Given the description of an element on the screen output the (x, y) to click on. 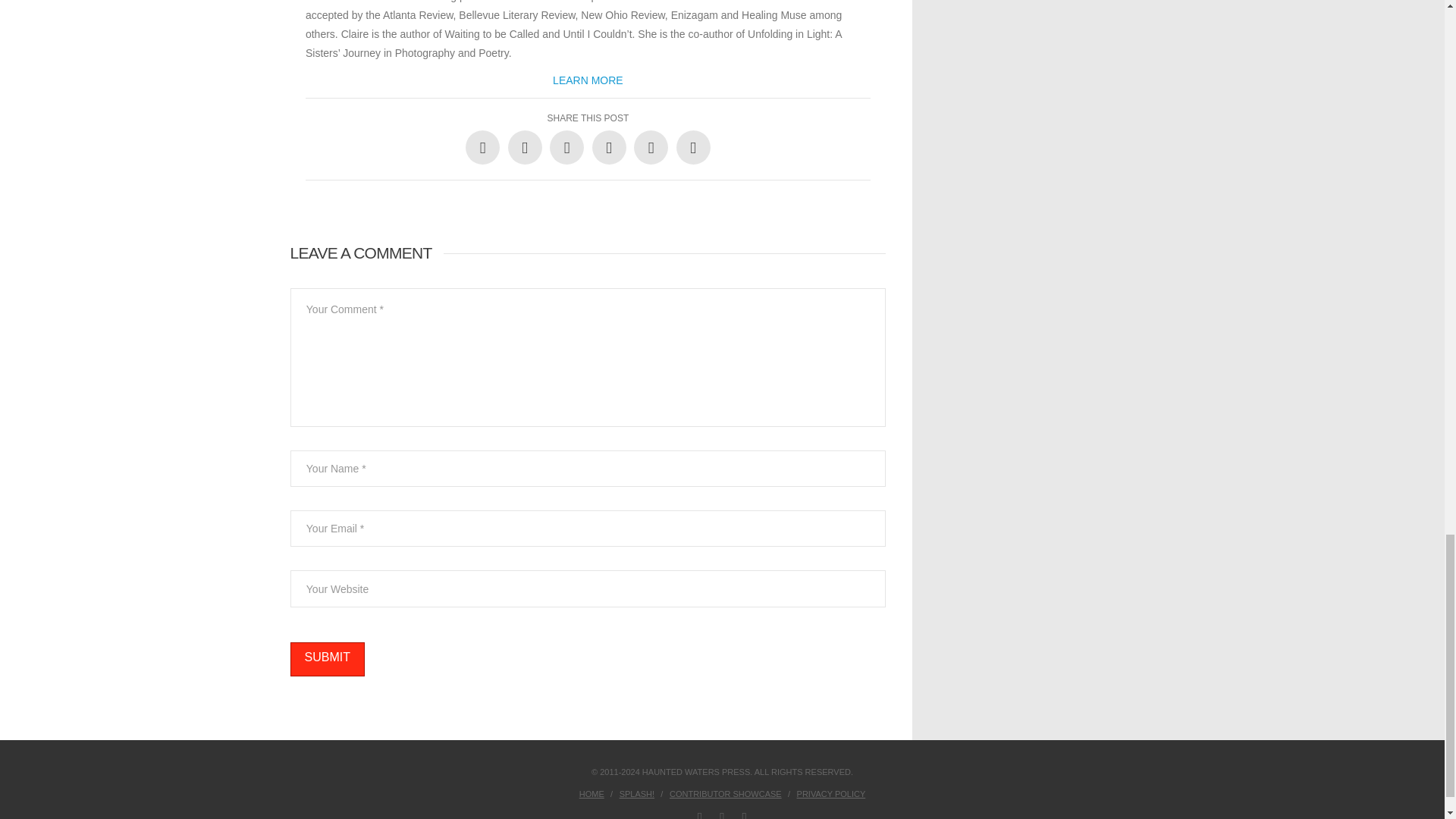
Share on Pinterest (609, 147)
CONTRIBUTOR SHOWCASE (725, 793)
Share on X (524, 147)
HOME (591, 793)
Share on LinkedIn (566, 147)
SPLASH! (636, 793)
Share on Facebook (482, 147)
Submit (326, 659)
Submit (326, 659)
Share via Email (693, 147)
